Given the description of an element on the screen output the (x, y) to click on. 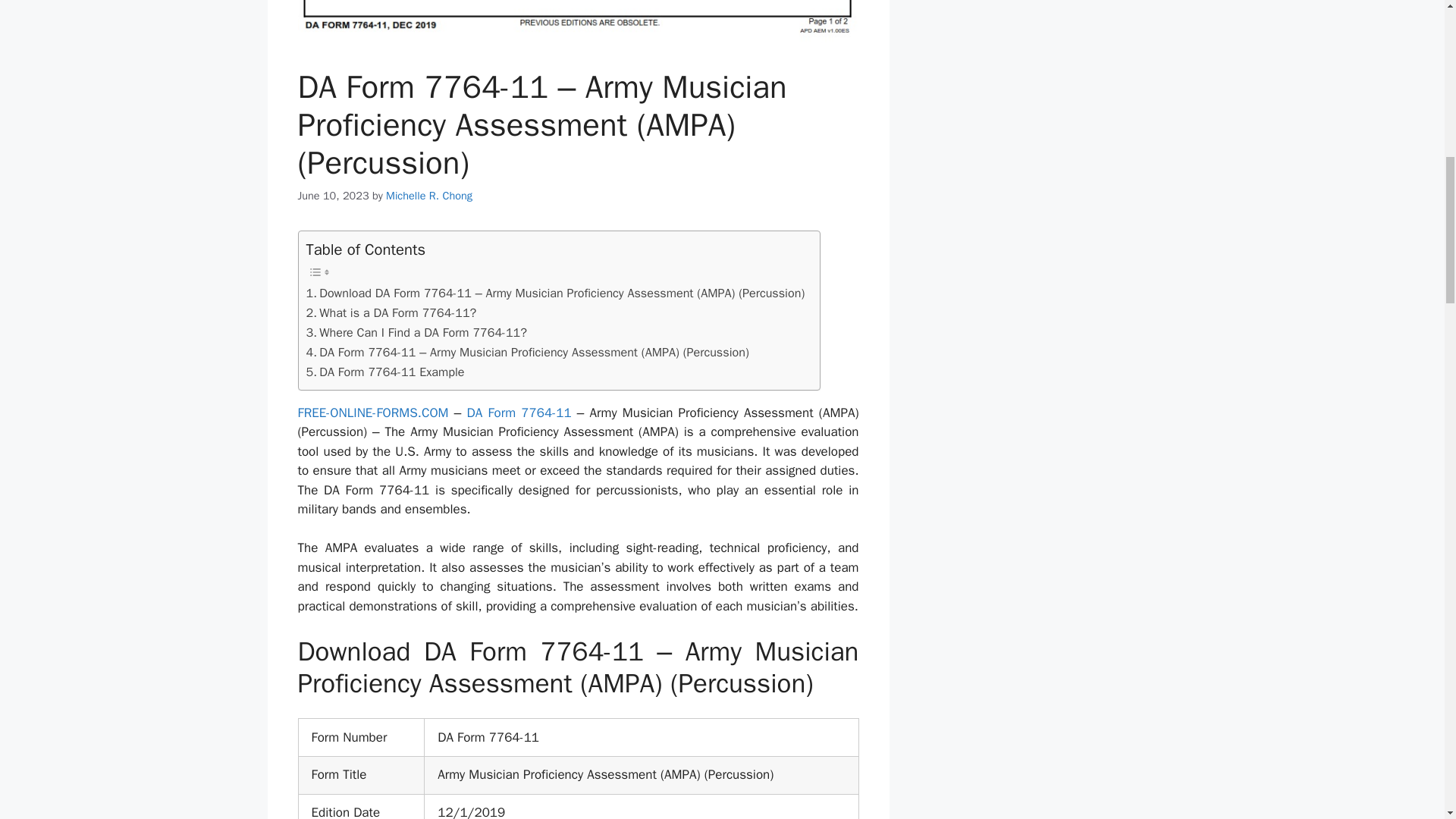
Michelle R. Chong (428, 195)
DA Form 7764 11 Page 1 (578, 21)
FREE-ONLINE-FORMS.COM (372, 412)
DA Form 7764-11 Example (384, 372)
What is a DA Form 7764-11? (391, 312)
Where Can I Find a DA Form 7764-11? (416, 332)
What is a DA Form 7764-11? (391, 312)
DA Form 7764-11 Example (384, 372)
View all posts by Michelle R. Chong (428, 195)
DA Form 7764-11 (517, 412)
Where Can I Find a DA Form 7764-11? (416, 332)
